Given the description of an element on the screen output the (x, y) to click on. 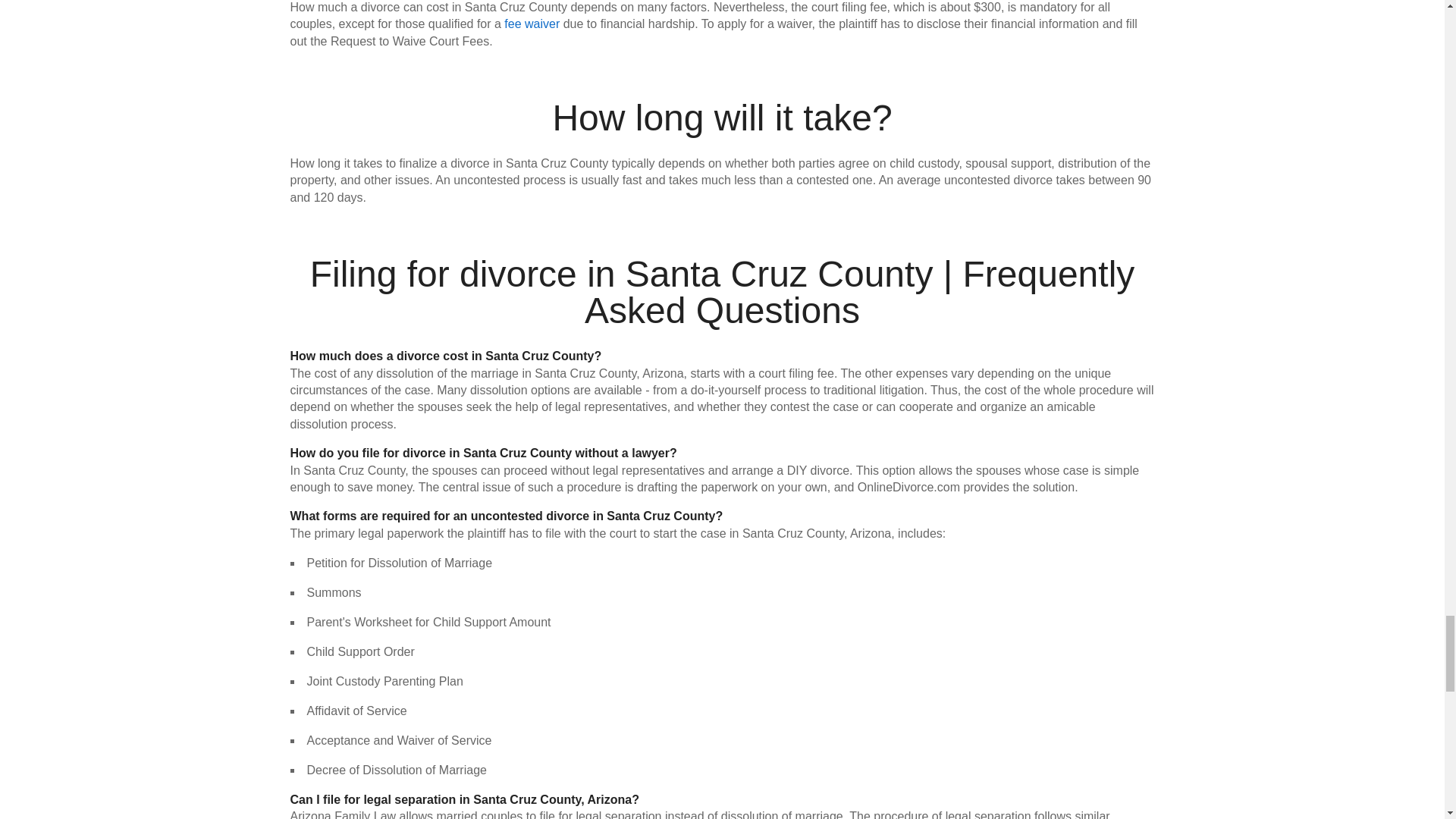
fee waiver (531, 23)
